Given the description of an element on the screen output the (x, y) to click on. 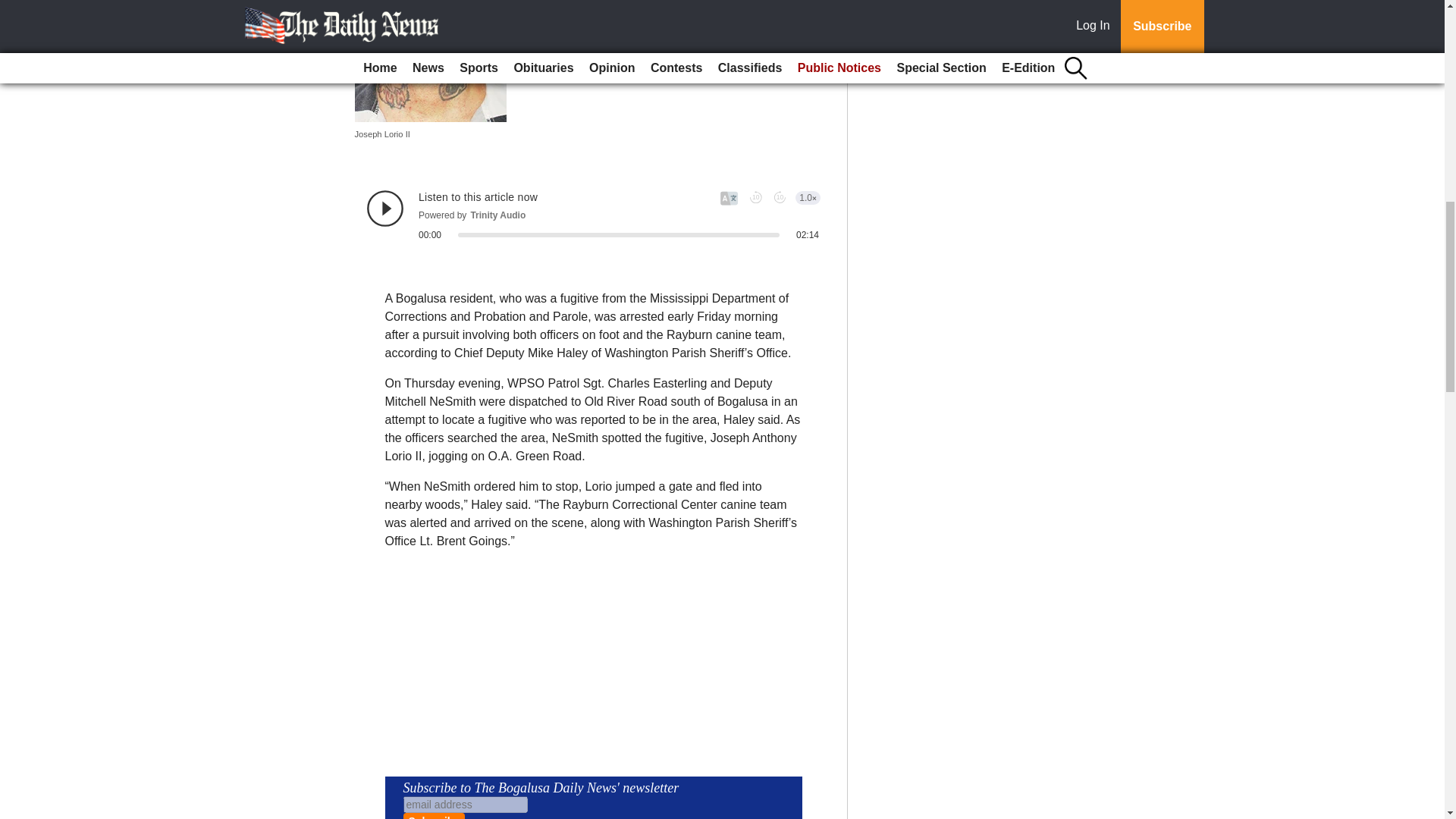
Trinity Audio Player (592, 215)
Subscribe (434, 816)
Subscribe (434, 816)
